Given the description of an element on the screen output the (x, y) to click on. 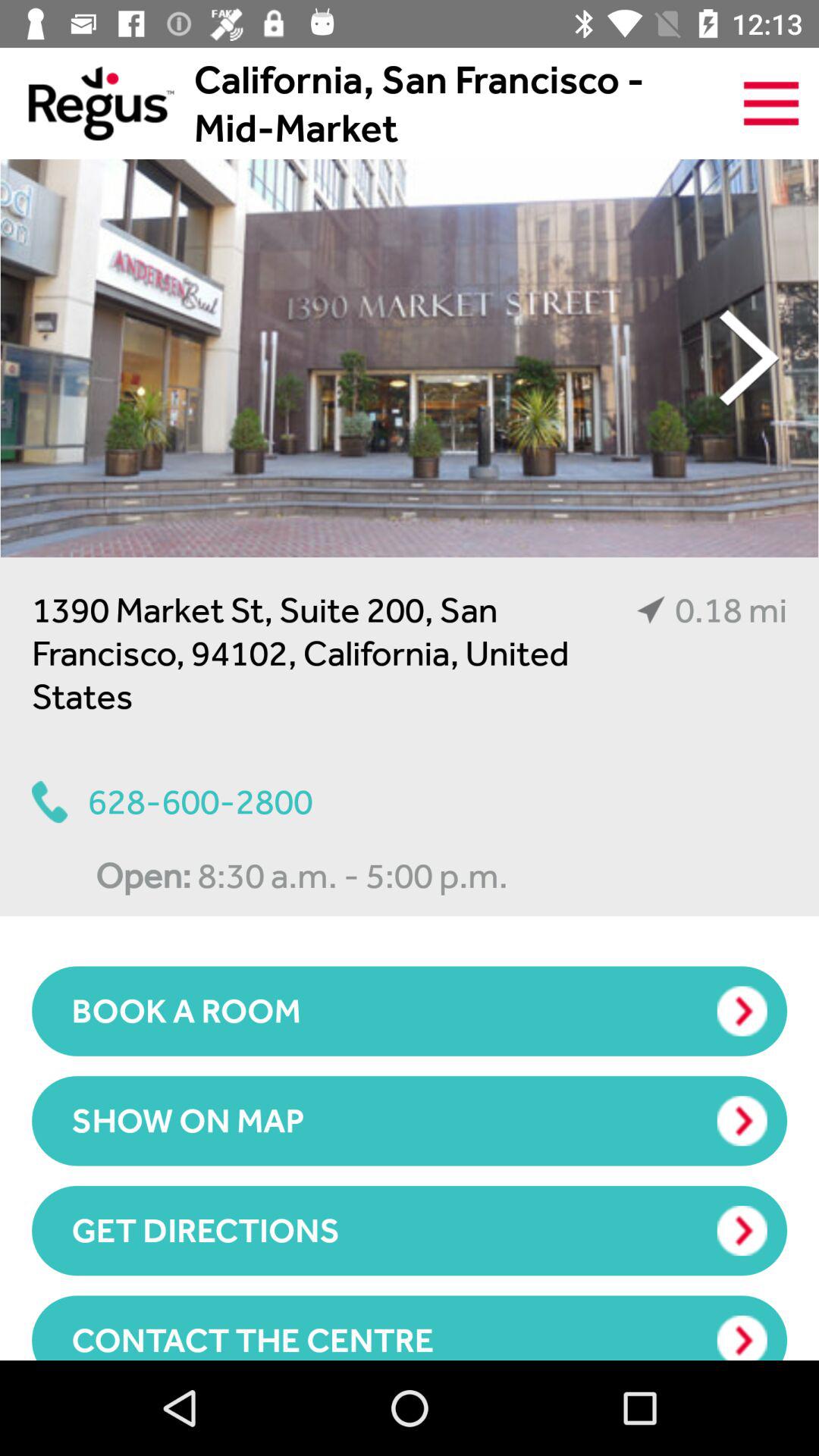
press the item above 1390 market st item (409, 358)
